Given the description of an element on the screen output the (x, y) to click on. 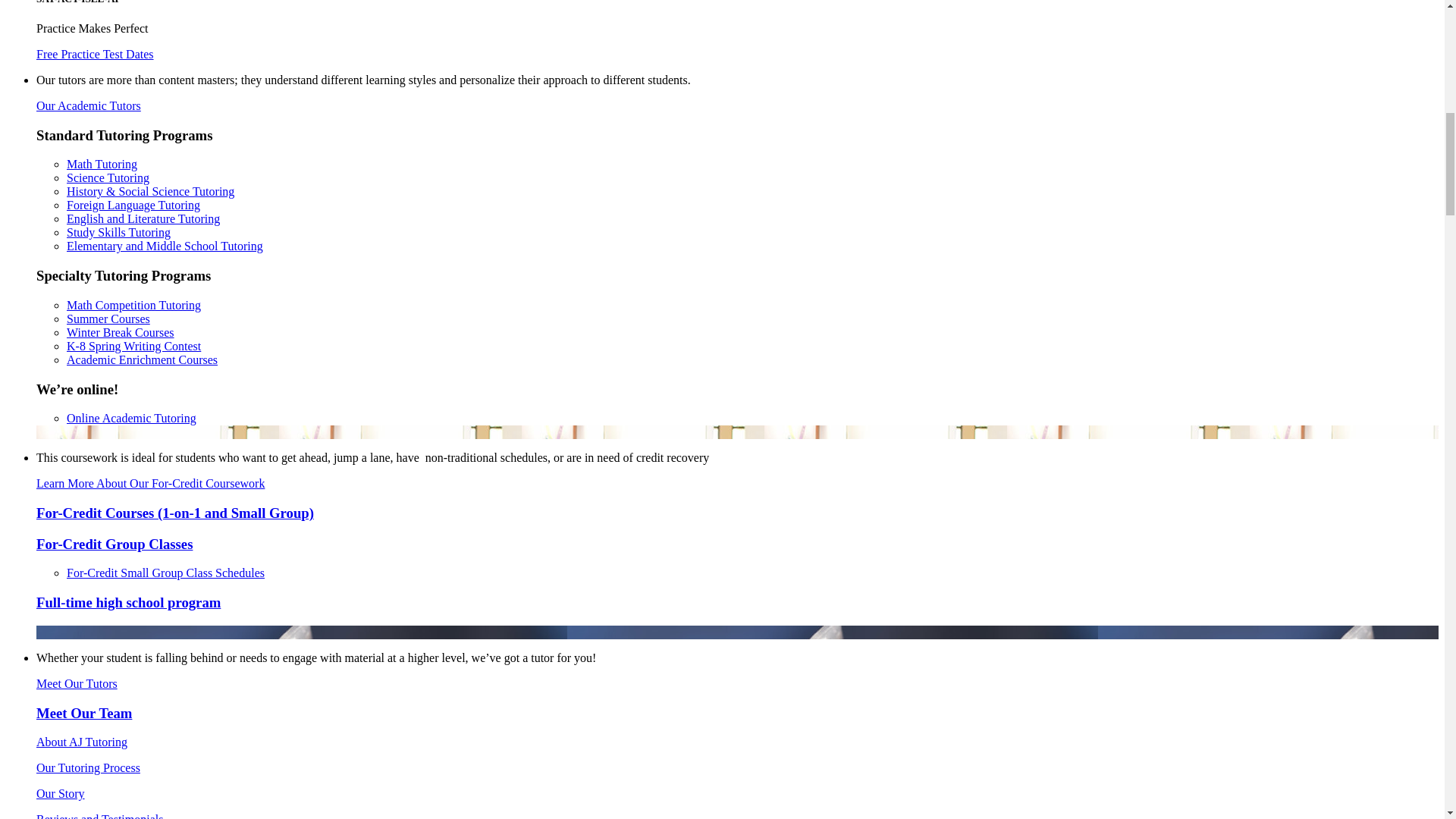
Our Academic Tutors (88, 105)
Free Practice Test Dates (95, 53)
